Given the description of an element on the screen output the (x, y) to click on. 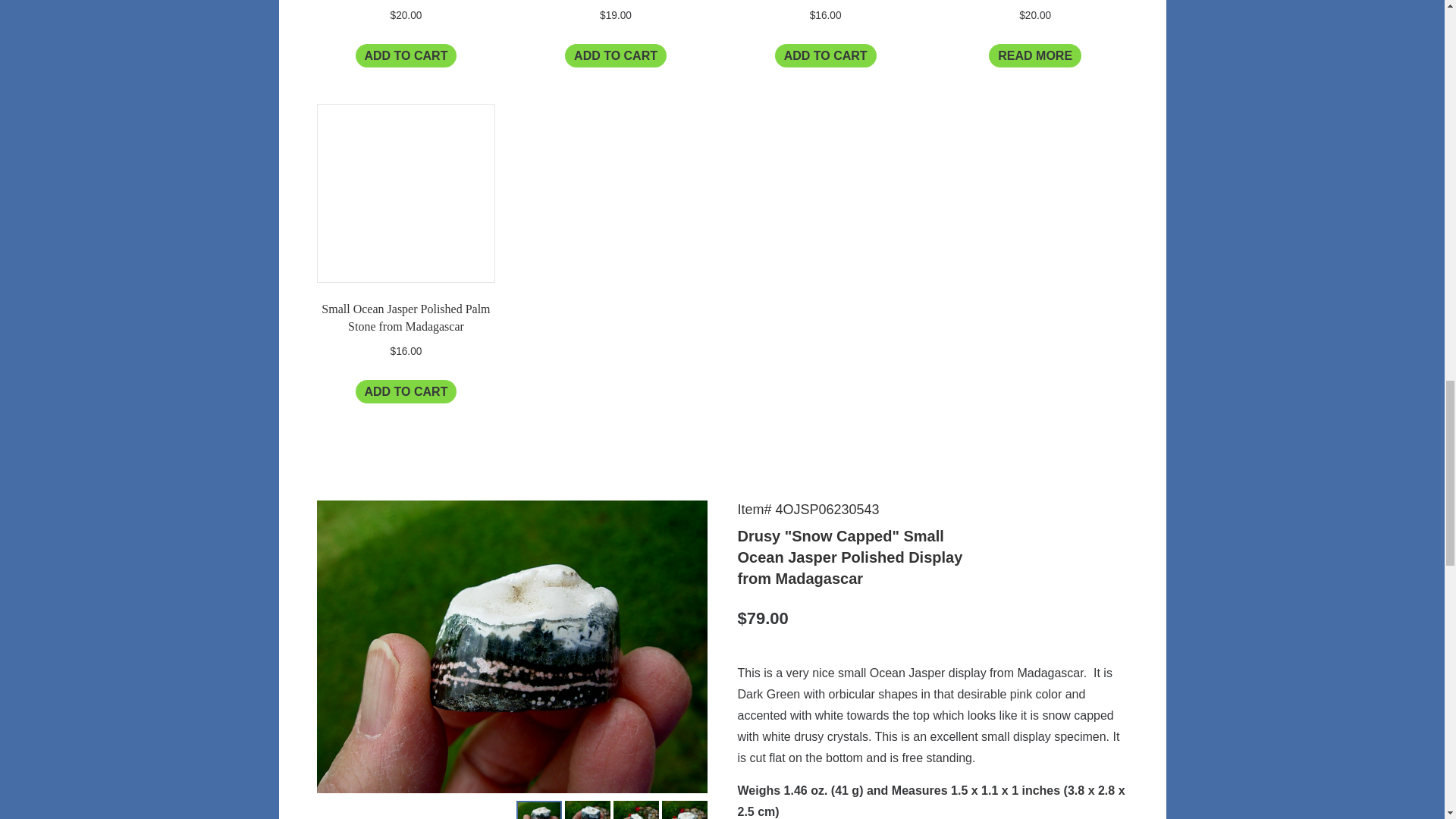
ADD TO CART (615, 55)
ADD TO CART (406, 55)
READ MORE (1034, 55)
ADD TO CART (406, 391)
ADD TO CART (825, 55)
